Given the description of an element on the screen output the (x, y) to click on. 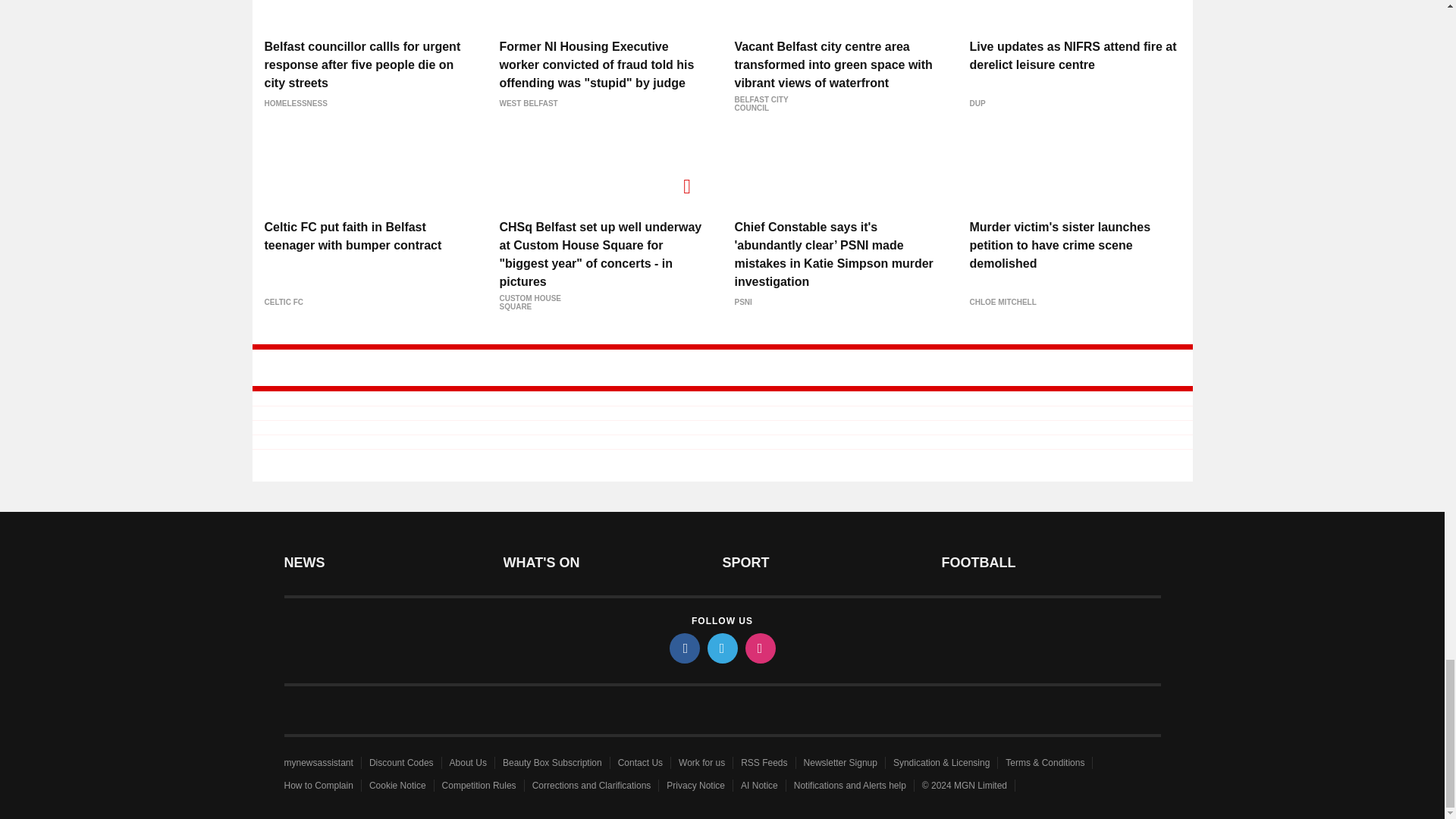
twitter (721, 648)
instagram (759, 648)
facebook (683, 648)
